Given the description of an element on the screen output the (x, y) to click on. 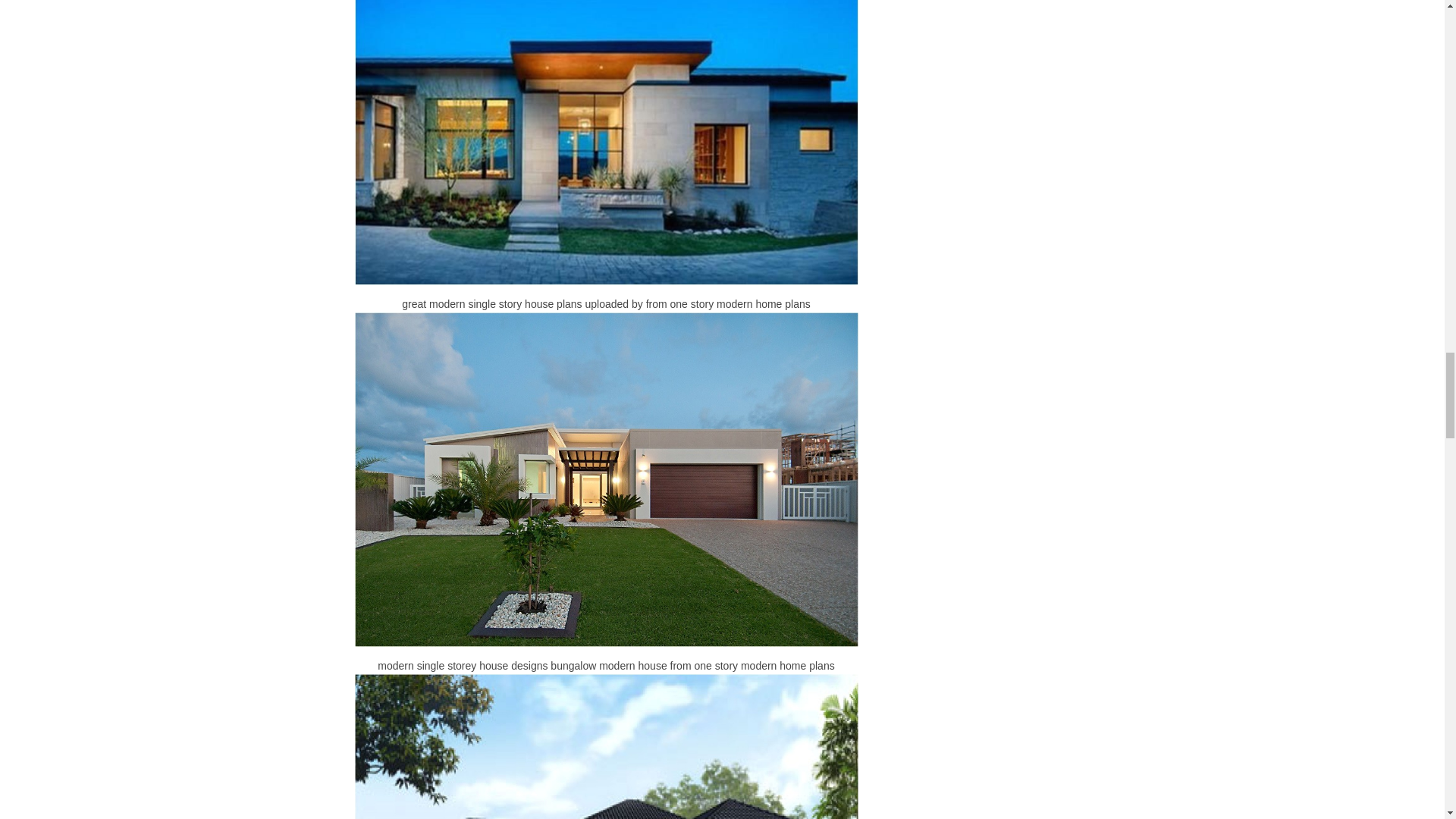
modern contemporary single story house plans home deco plans (607, 746)
